Given the description of an element on the screen output the (x, y) to click on. 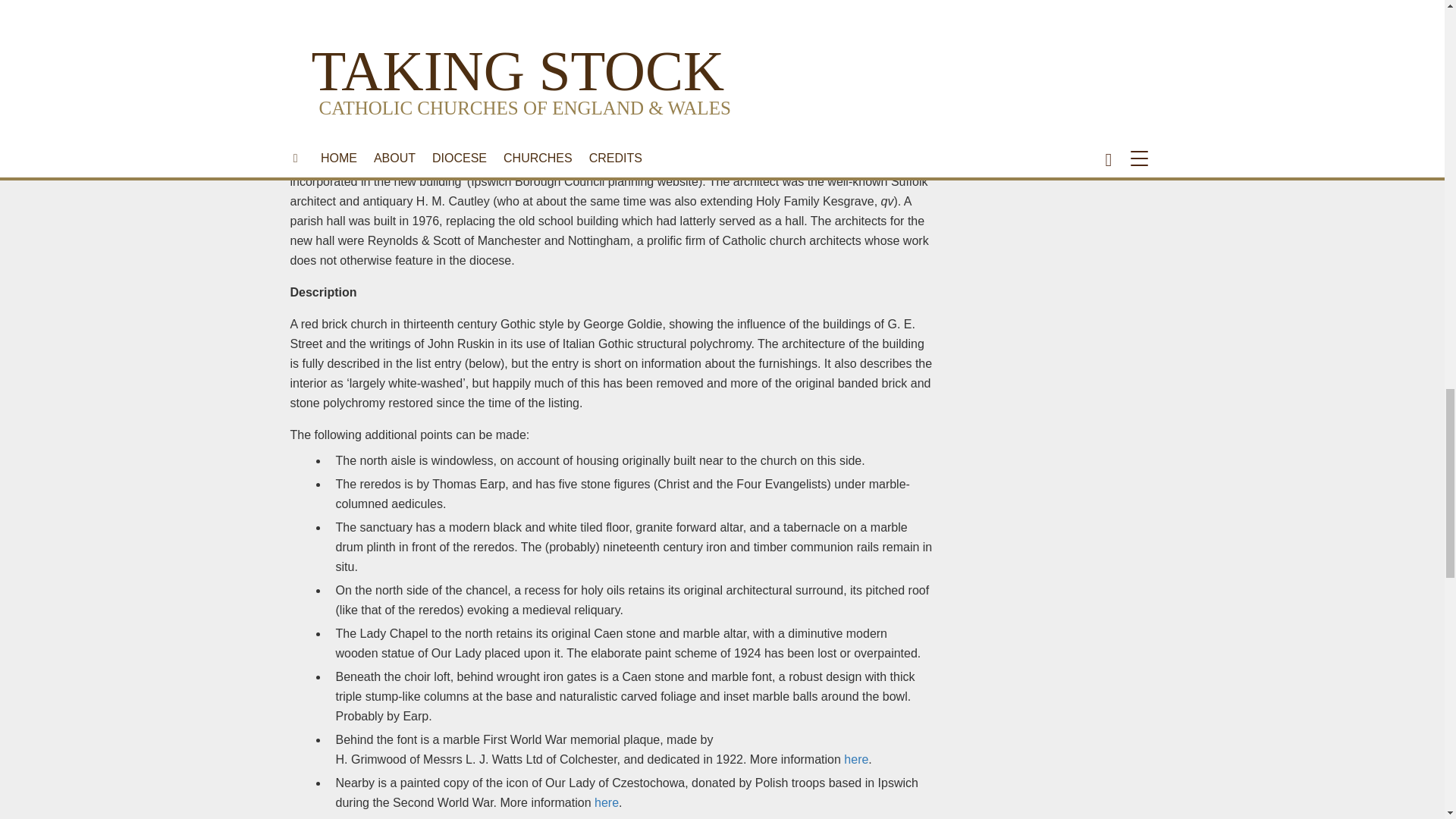
here (855, 758)
here (606, 802)
